Given the description of an element on the screen output the (x, y) to click on. 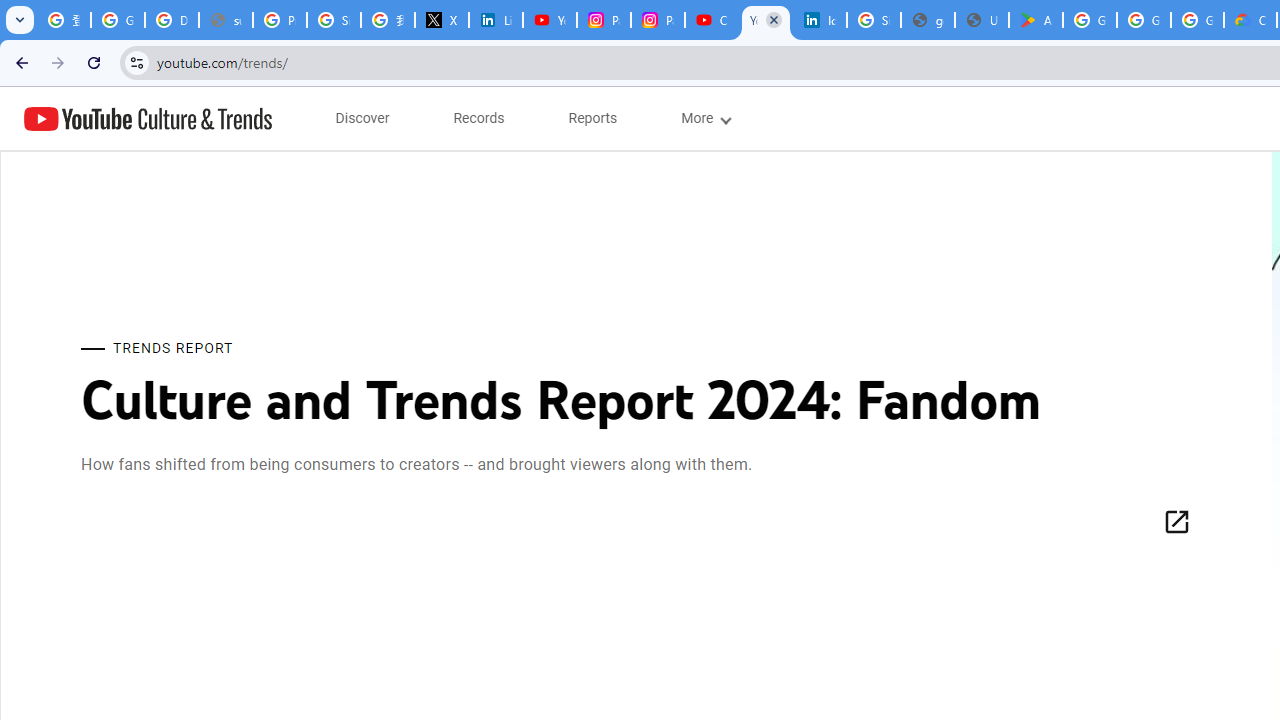
YouTube Culture & Trends (147, 118)
JUMP TO CONTENT (209, 119)
Google Workspace - Specific Terms (1197, 20)
google_privacy_policy_en.pdf (927, 20)
subnav-Discover menupopup (362, 118)
Sign in - Google Accounts (333, 20)
Sign in - Google Accounts (874, 20)
subnav-Reports menupopup (593, 118)
